Given the description of an element on the screen output the (x, y) to click on. 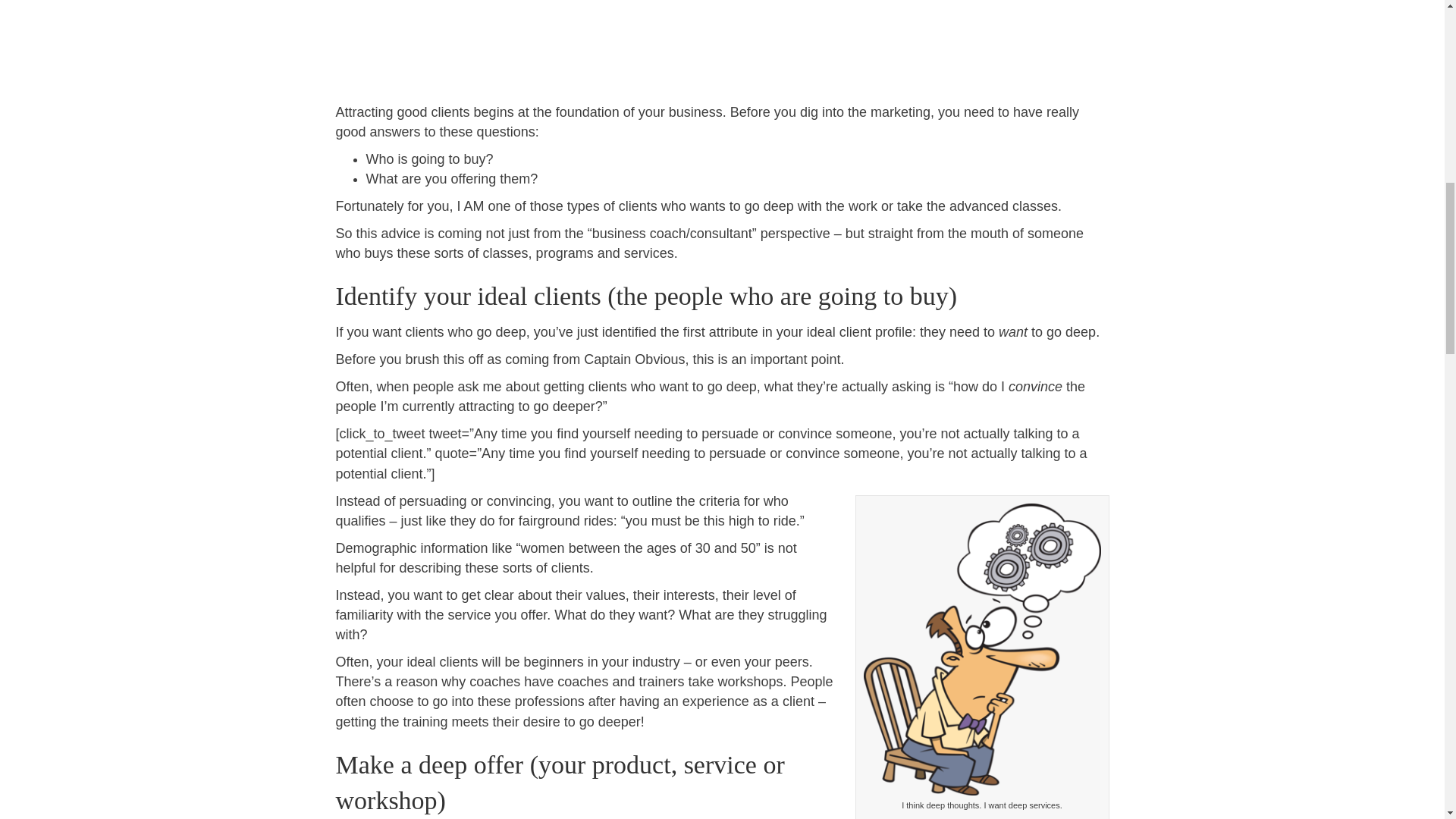
How do I attract clients who want to go deep? (721, 47)
